Given the description of an element on the screen output the (x, y) to click on. 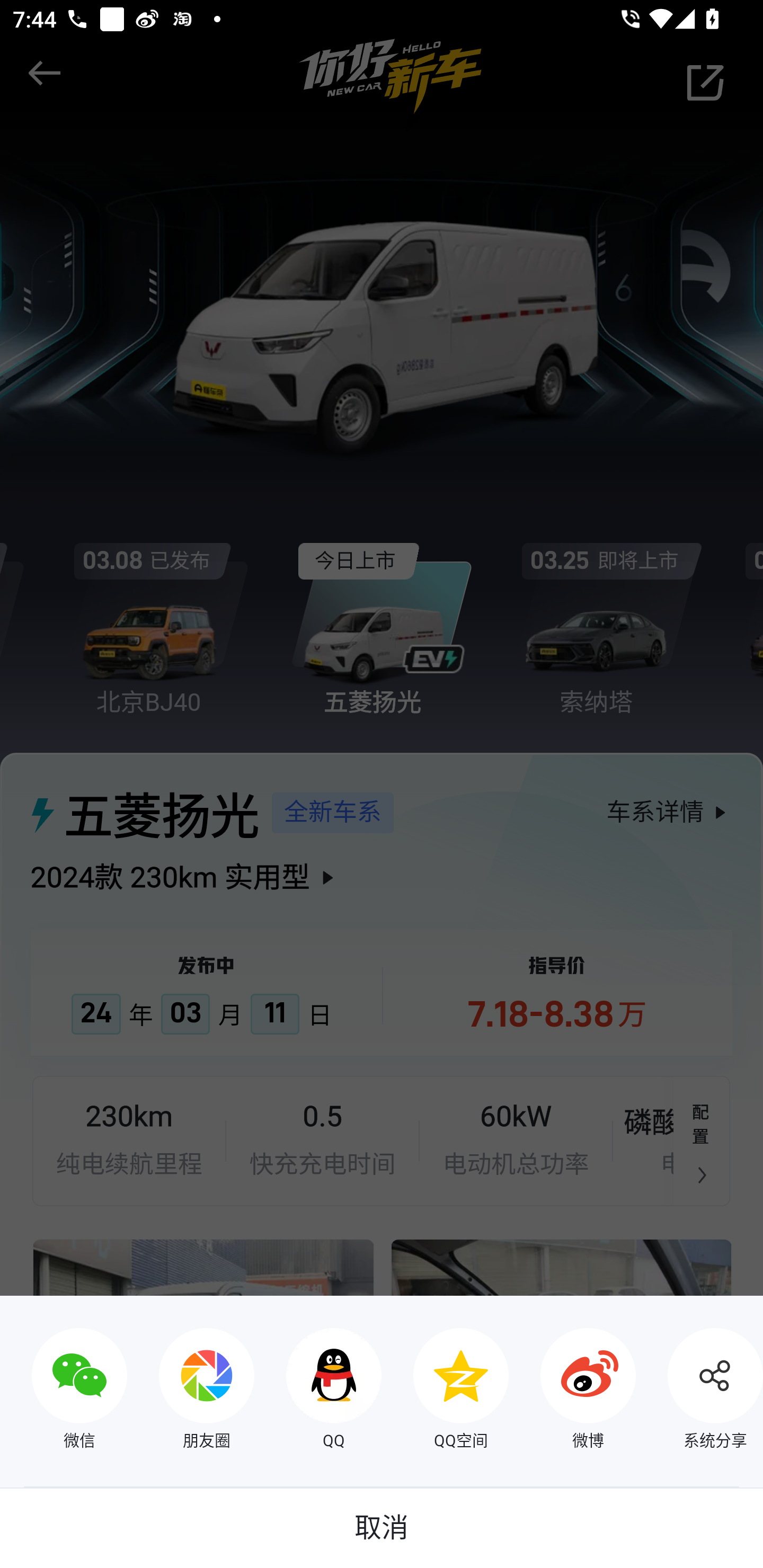
微信 (63, 1390)
朋友圈 (190, 1390)
QQ (317, 1390)
QQ空间 (444, 1390)
微博 (571, 1390)
系统分享 (699, 1390)
取消 (381, 1528)
